Given the description of an element on the screen output the (x, y) to click on. 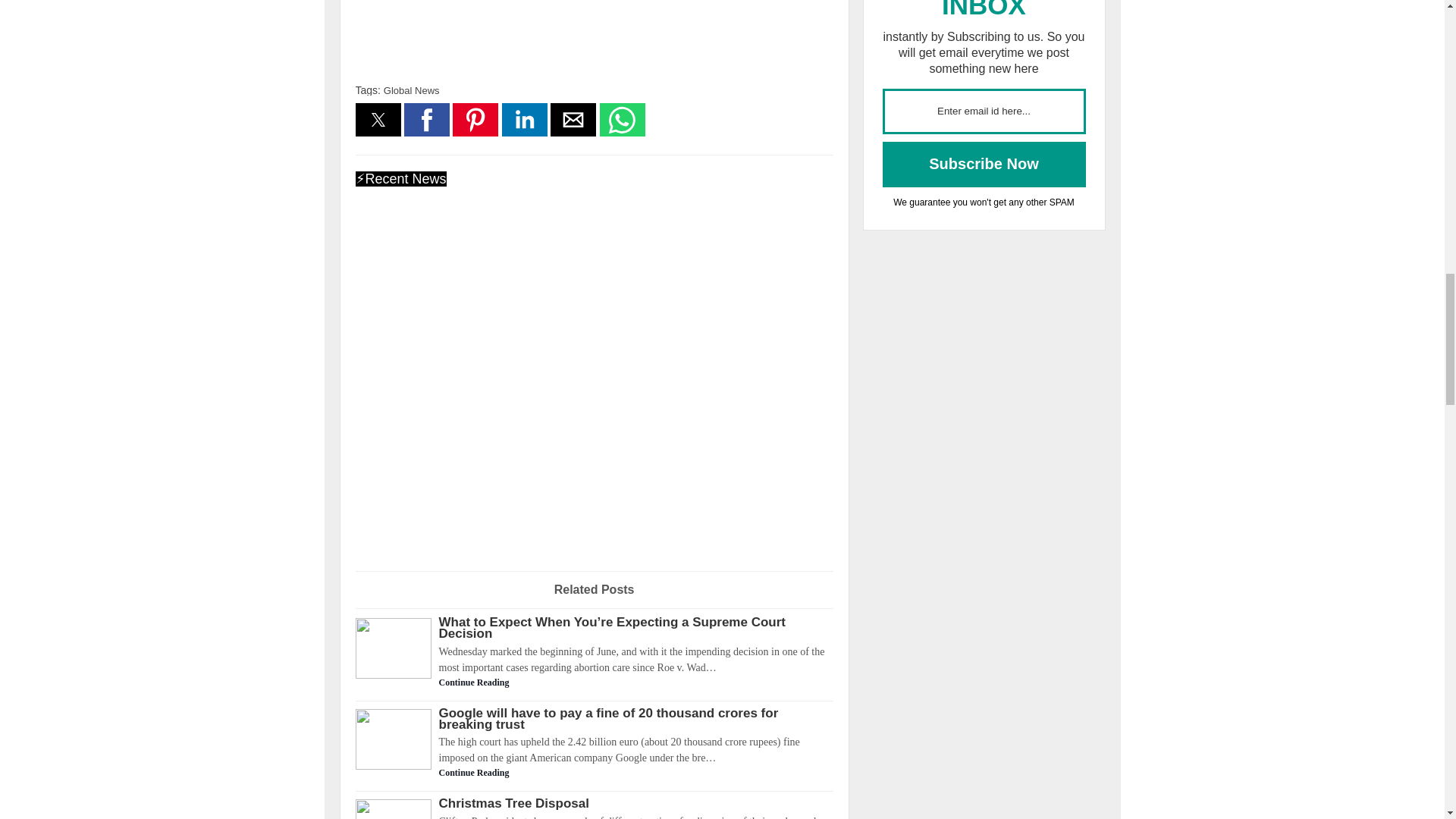
Global News (411, 90)
Christmas Tree Disposal (593, 803)
Continue Reading (593, 682)
Continue Reading (593, 772)
Subscribe Now (984, 164)
